Given the description of an element on the screen output the (x, y) to click on. 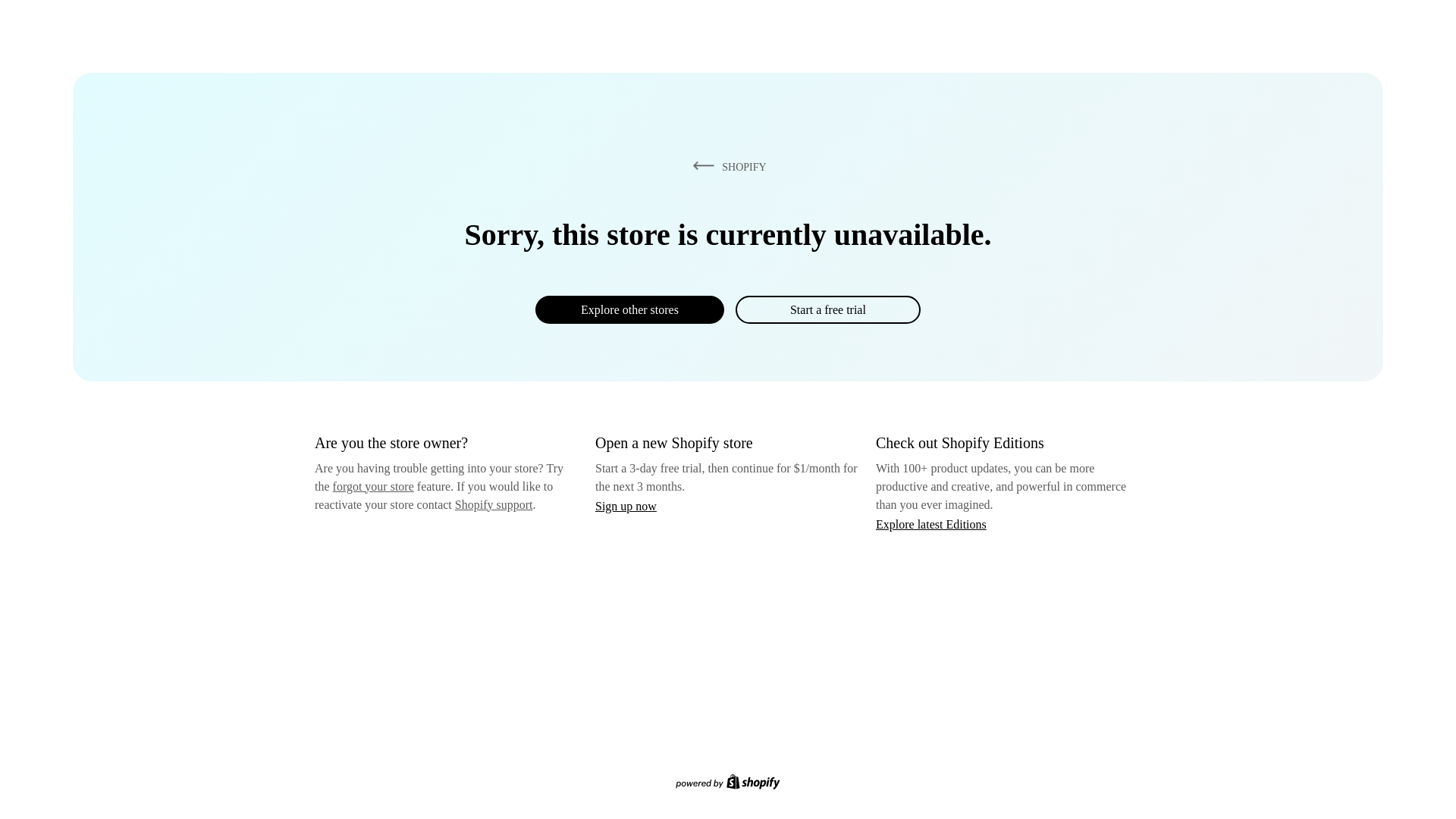
SHOPIFY (726, 166)
forgot your store (373, 486)
Sign up now (625, 505)
Explore other stores (629, 309)
Explore latest Editions (931, 523)
Start a free trial (827, 309)
Shopify support (493, 504)
